Given the description of an element on the screen output the (x, y) to click on. 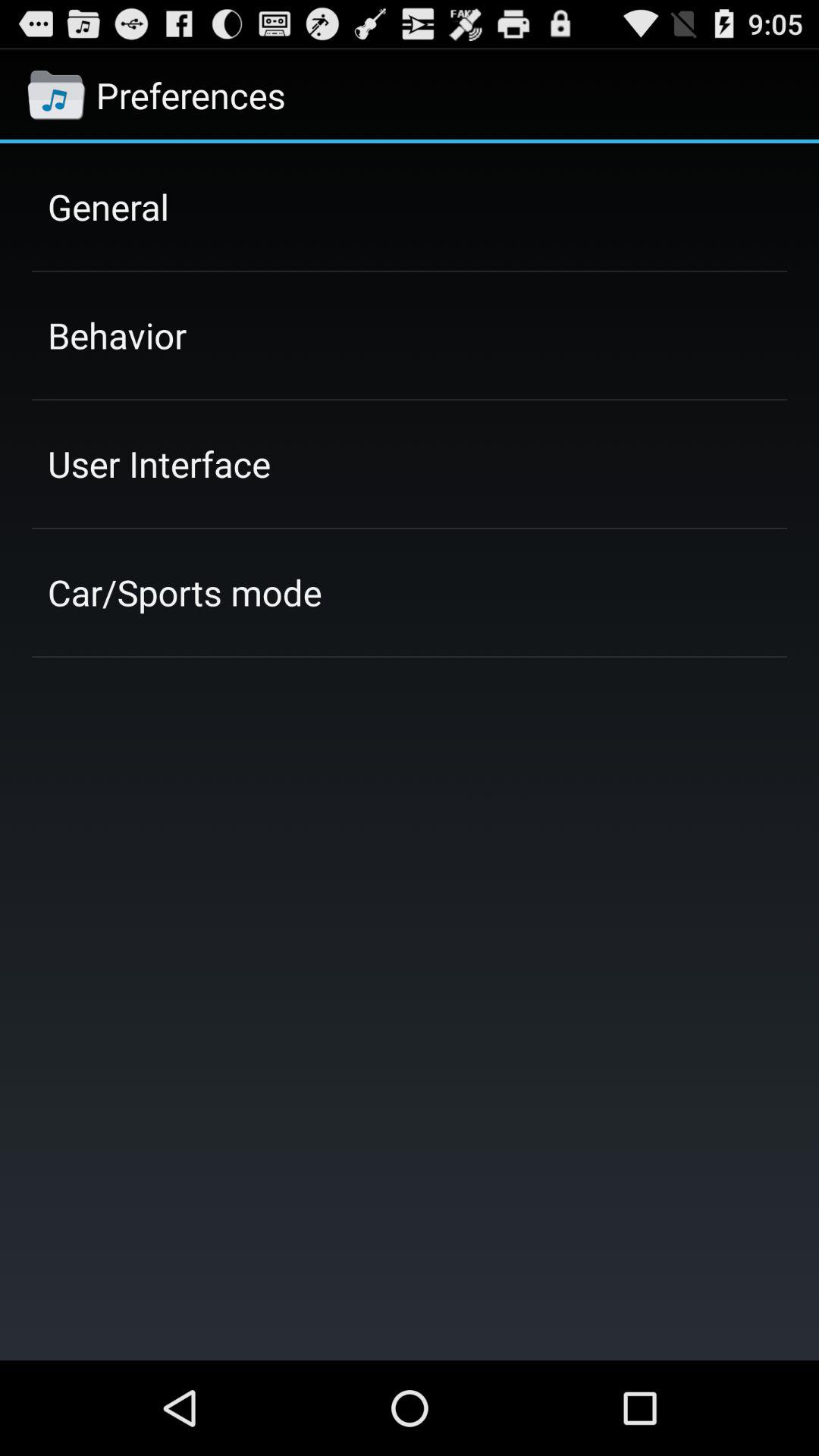
choose general (107, 206)
